Given the description of an element on the screen output the (x, y) to click on. 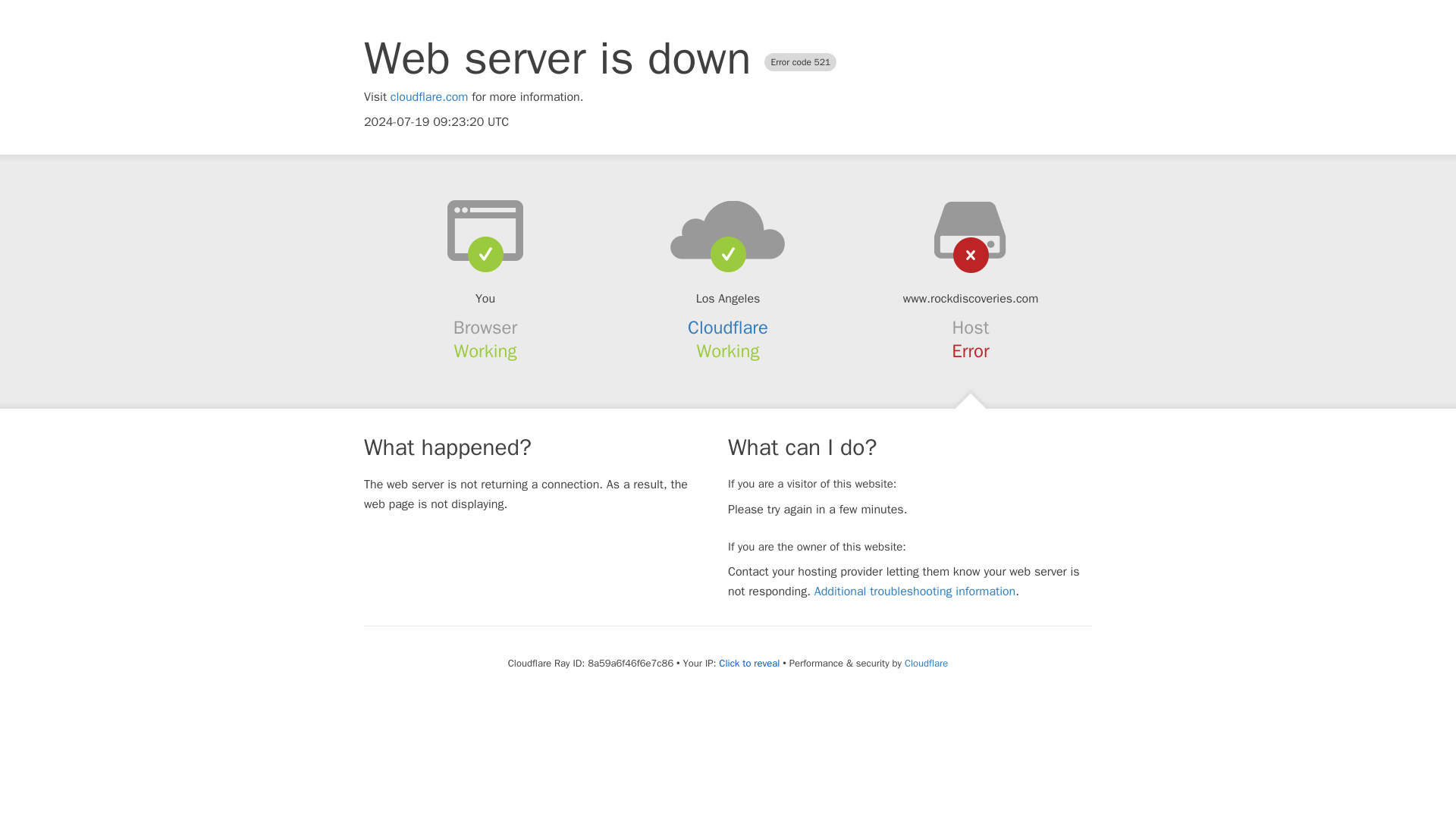
Additional troubleshooting information (913, 590)
Cloudflare (727, 327)
Click to reveal (748, 663)
Cloudflare (925, 662)
cloudflare.com (429, 96)
